Given the description of an element on the screen output the (x, y) to click on. 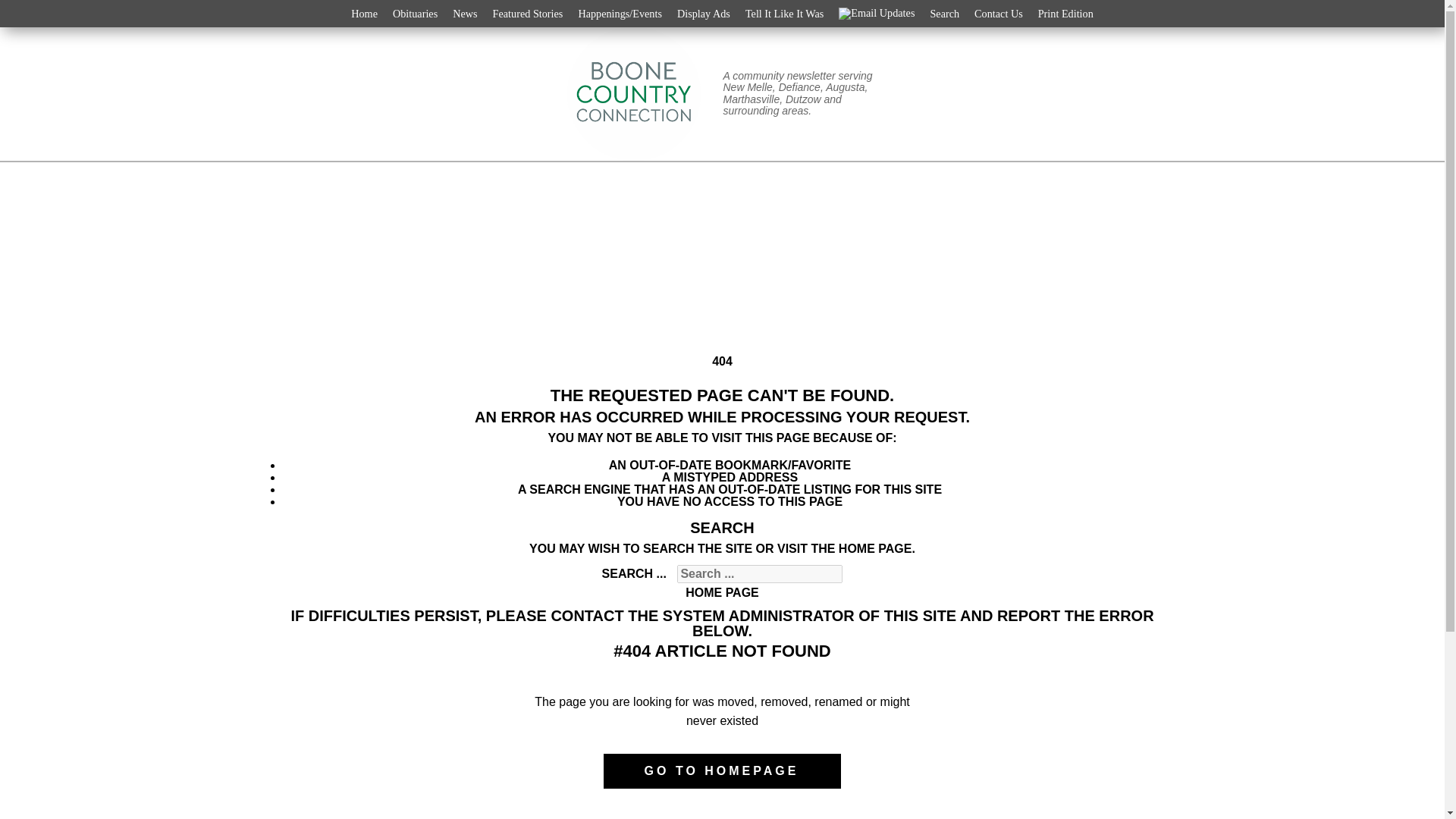
Search (943, 13)
Home (364, 13)
Go to the Home Page (721, 592)
Featured Stories (527, 13)
Tell It Like It Was (784, 13)
News (464, 13)
Print Edition (1065, 13)
GO TO HOMEPAGE (722, 770)
Display Ads (703, 13)
HOME PAGE (721, 592)
Contact Us (998, 13)
Obituaries (415, 13)
